Given the description of an element on the screen output the (x, y) to click on. 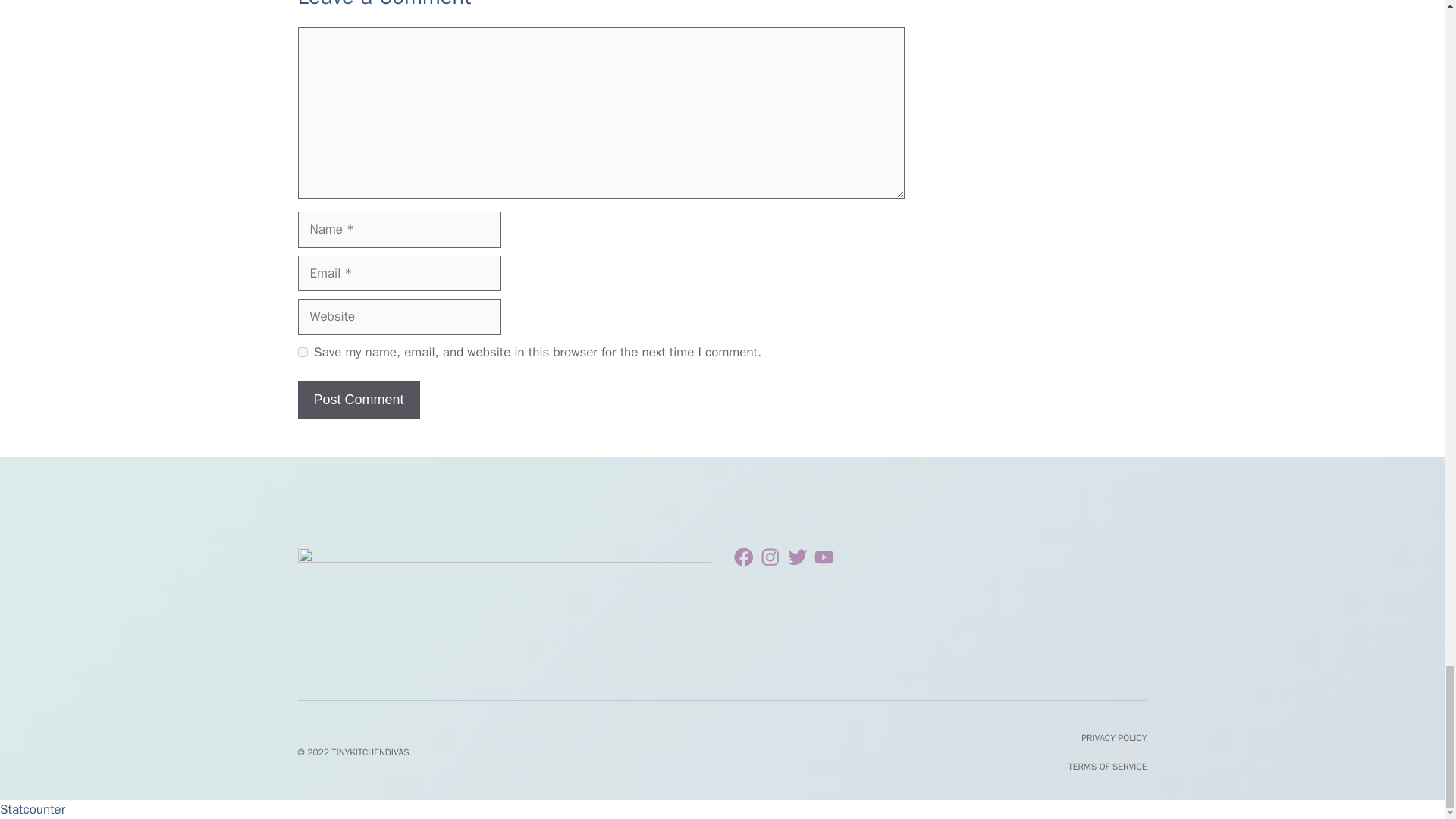
Post Comment (358, 399)
yes (302, 352)
Post Comment (358, 399)
